Given the description of an element on the screen output the (x, y) to click on. 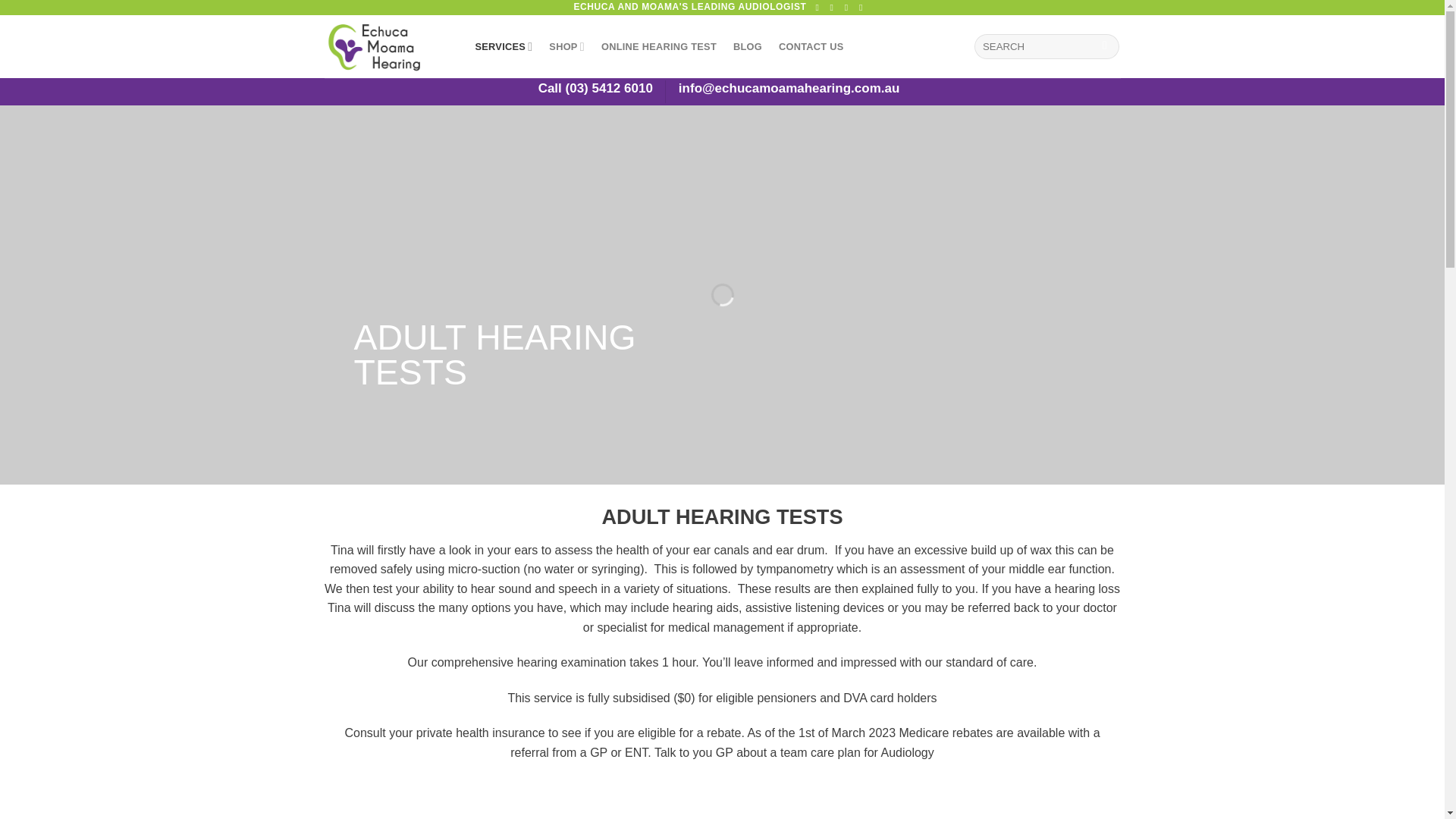
SHOP (566, 46)
Echuca Moama Hearing Clinic - Audiologist Echuca Moama (388, 46)
SERVICES (503, 46)
CONTACT US (811, 46)
Search (1105, 46)
ONLINE HEARING TEST (658, 46)
